Given the description of an element on the screen output the (x, y) to click on. 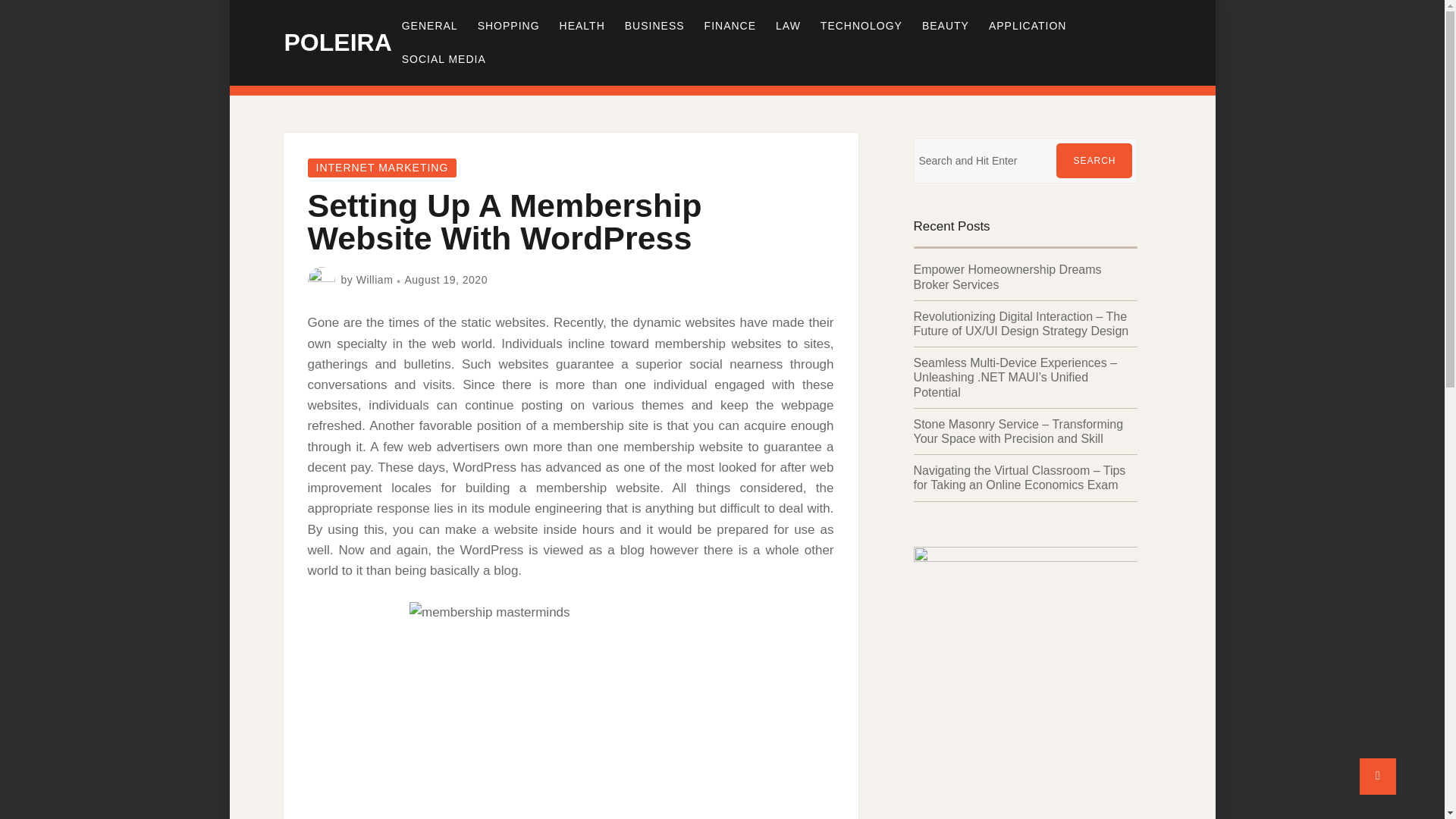
Scroll to top (1377, 776)
INTERNET MARKETING (382, 167)
William (374, 279)
FINANCE (729, 25)
SOCIAL MEDIA (443, 59)
TECHNOLOGY (861, 25)
SEARCH (1094, 160)
LAW (787, 25)
SHOPPING (508, 25)
BUSINESS (654, 25)
